Given the description of an element on the screen output the (x, y) to click on. 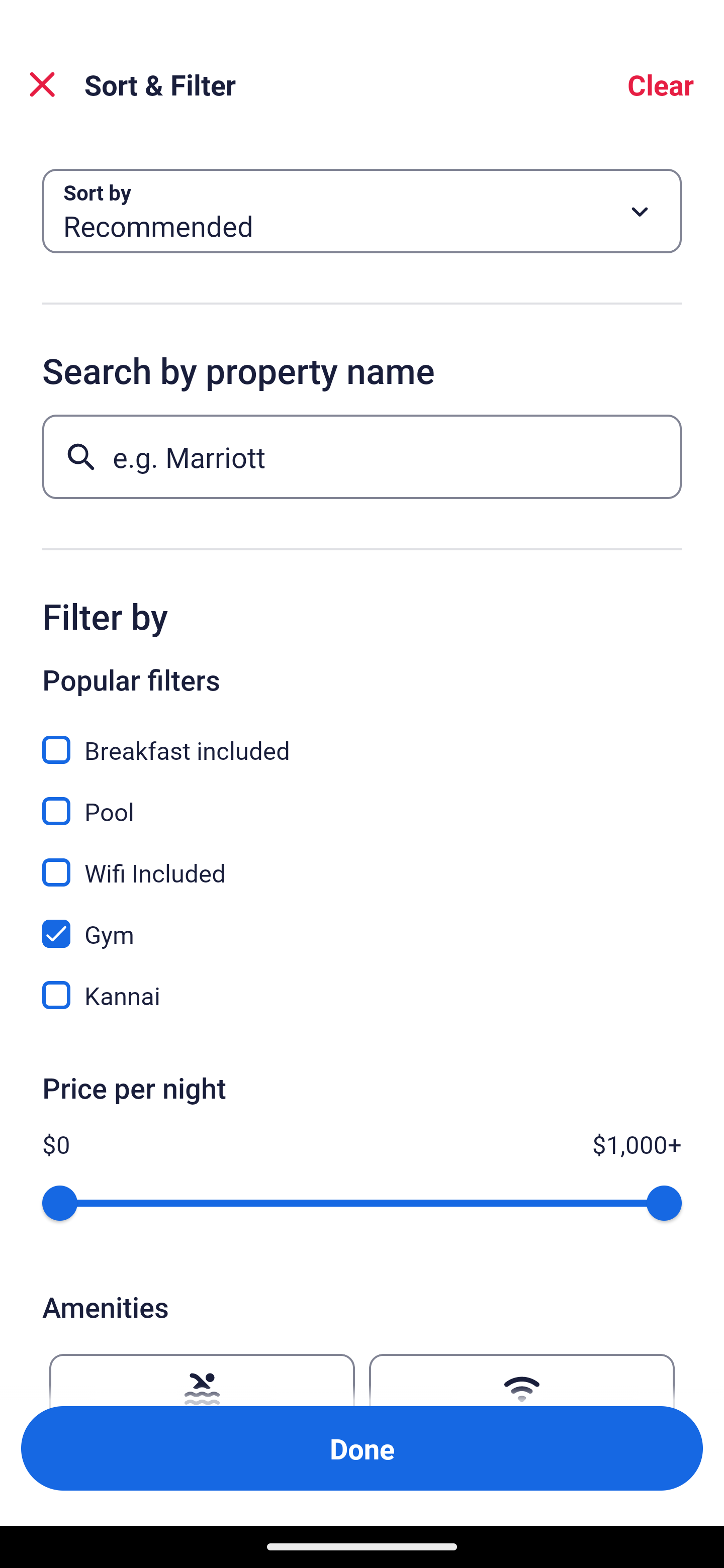
Close Sort and Filter (42, 84)
Clear (660, 84)
Sort by Button Recommended (361, 211)
e.g. Marriott Button (361, 455)
Breakfast included, Breakfast included (361, 738)
Pool, Pool (361, 800)
Wifi Included, Wifi Included (361, 861)
Gym, Gym (361, 922)
Kannai, Kannai (361, 995)
Apply and close Sort and Filter Done (361, 1448)
